Given the description of an element on the screen output the (x, y) to click on. 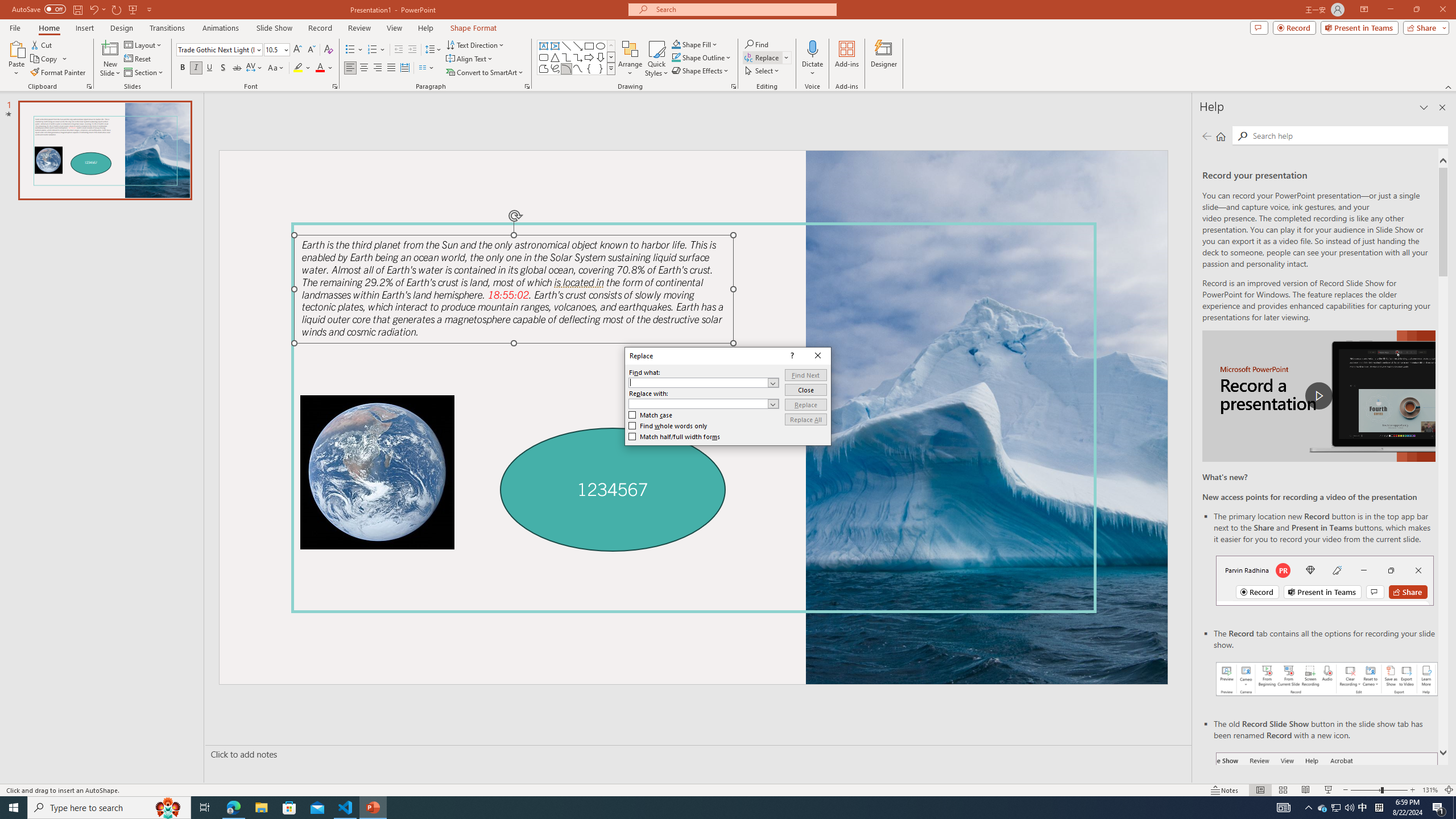
Context help (791, 355)
Match case (650, 414)
Shape Outline Teal, Accent 1 (675, 56)
